Given the description of an element on the screen output the (x, y) to click on. 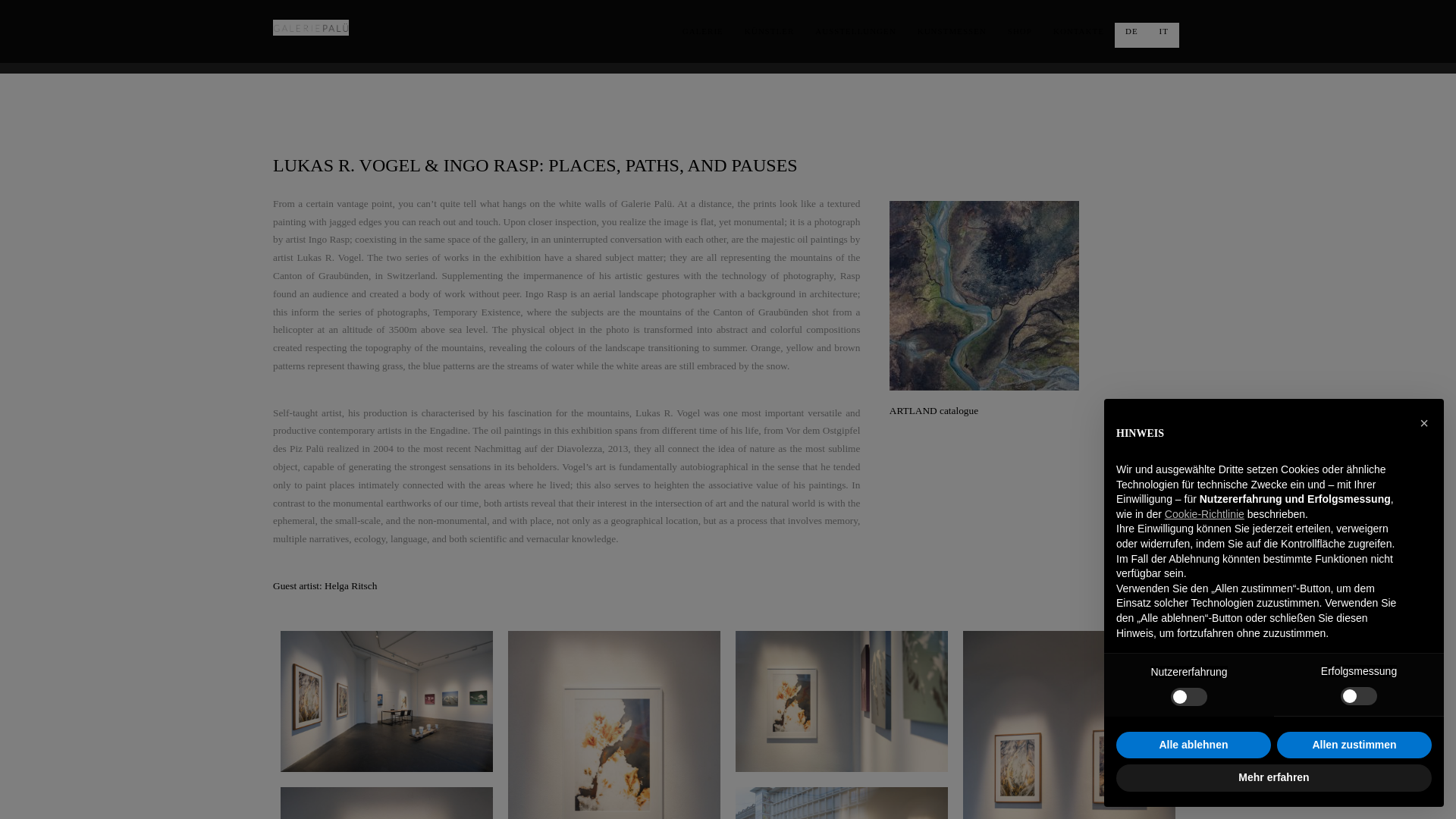
GALERIE (702, 31)
IT (1163, 31)
DE (1131, 31)
false (1188, 696)
SHOP (1019, 31)
Guest artist: Helga Ritsch (325, 585)
Mehr erfahren (1273, 777)
Alle ablehnen (1193, 745)
Page 4 (727, 165)
DE (1131, 31)
